Given the description of an element on the screen output the (x, y) to click on. 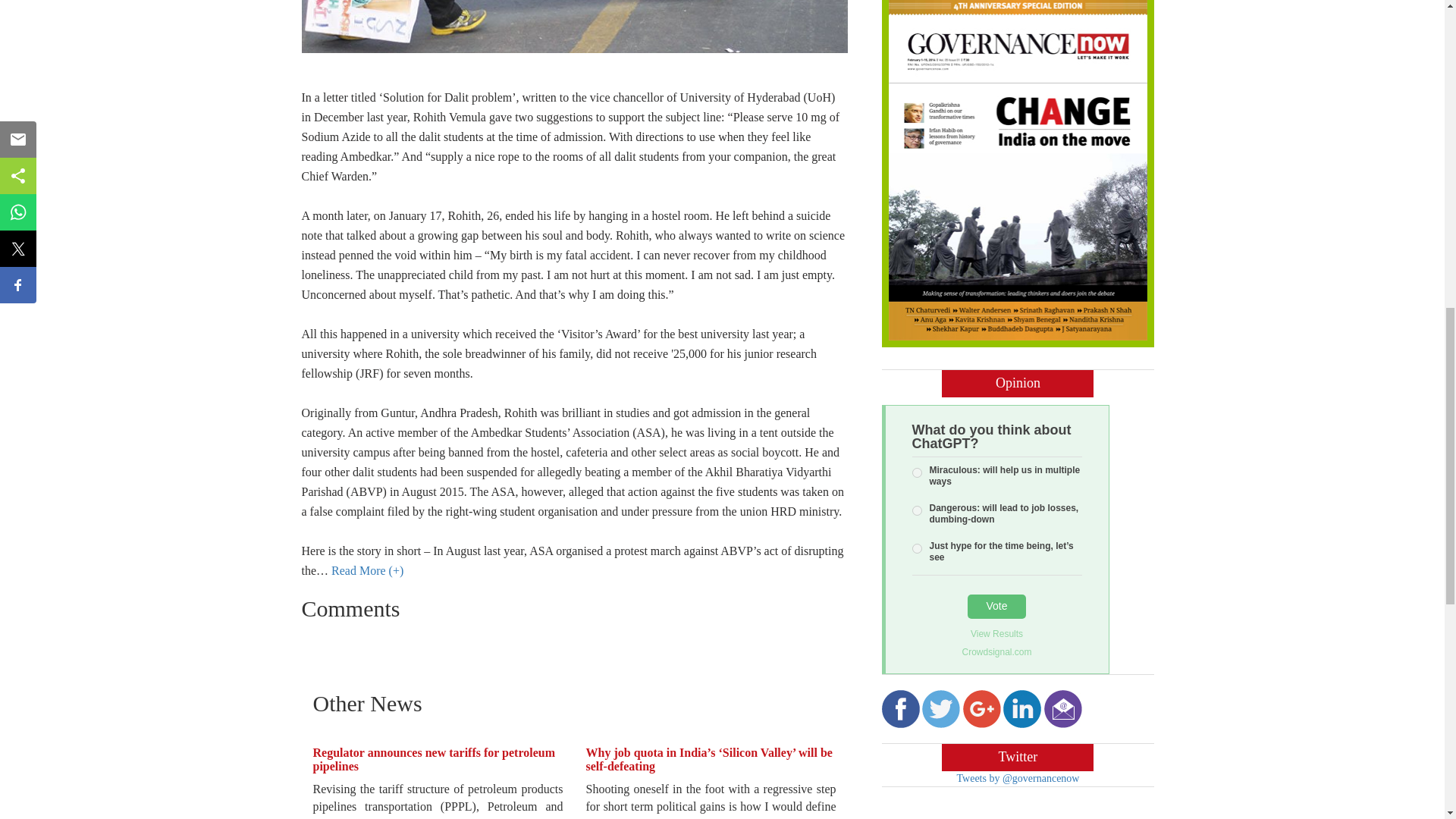
Crowdsignal.com (995, 651)
Regulator announces new tariffs for petroleum pipelines (433, 759)
Google Plus (981, 709)
Twitter (940, 709)
55458141 (916, 510)
55458140 (916, 472)
View Results (997, 633)
Vote (996, 606)
55458142 (916, 548)
Facebook (899, 709)
